Given the description of an element on the screen output the (x, y) to click on. 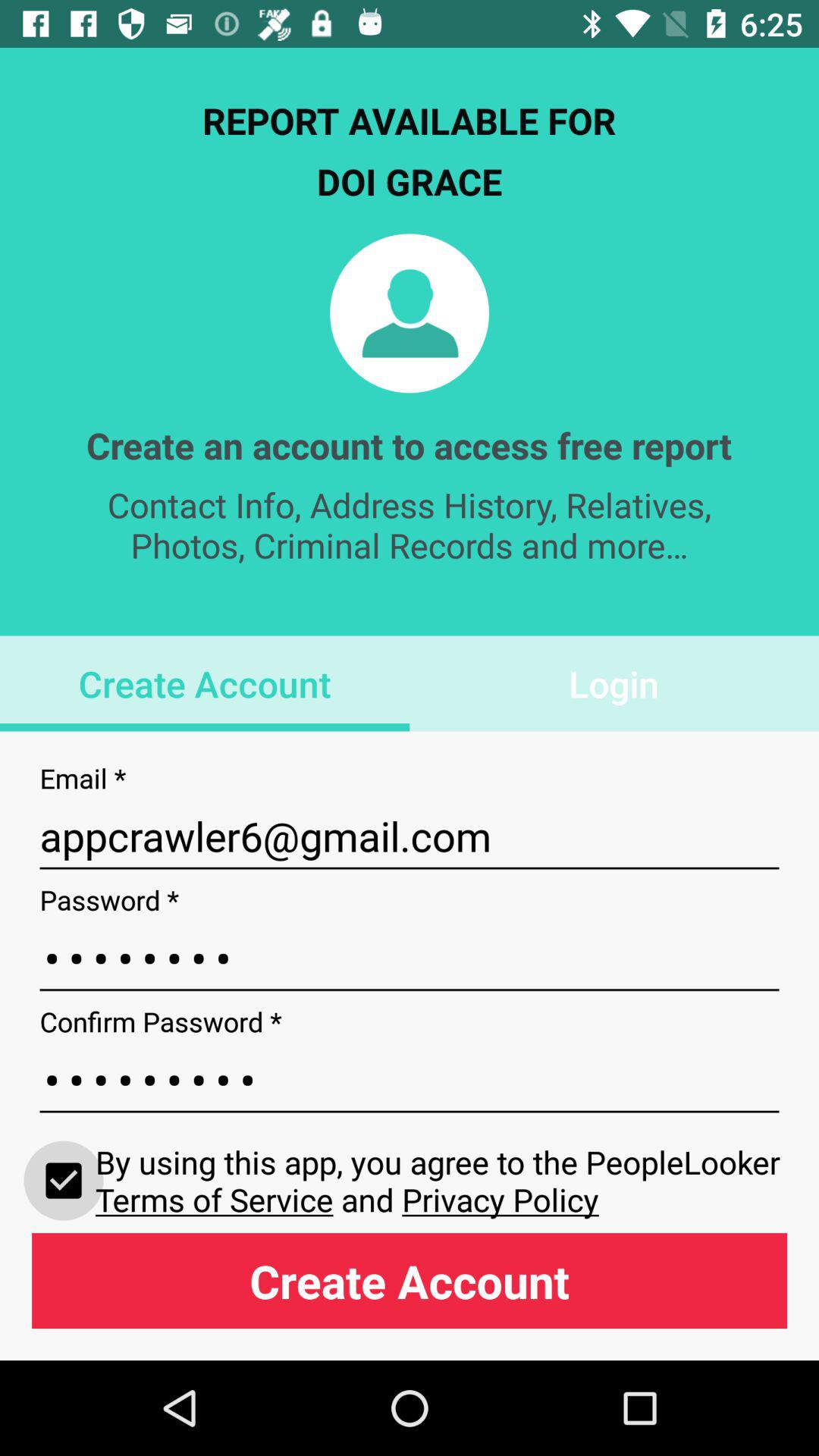
turn off icon above crowd3116 (409, 958)
